Given the description of an element on the screen output the (x, y) to click on. 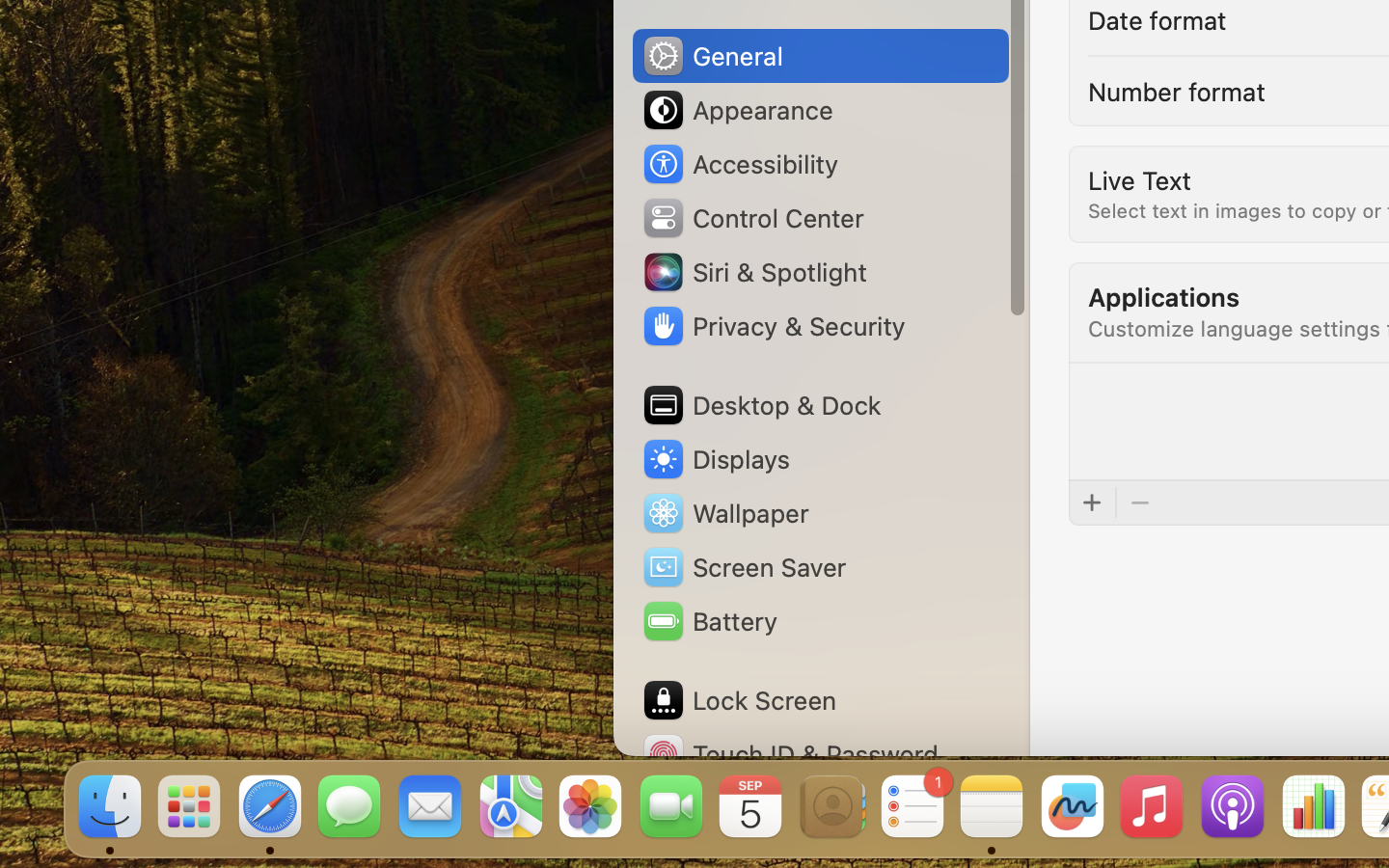
Number format Element type: AXStaticText (1176, 90)
